Given the description of an element on the screen output the (x, y) to click on. 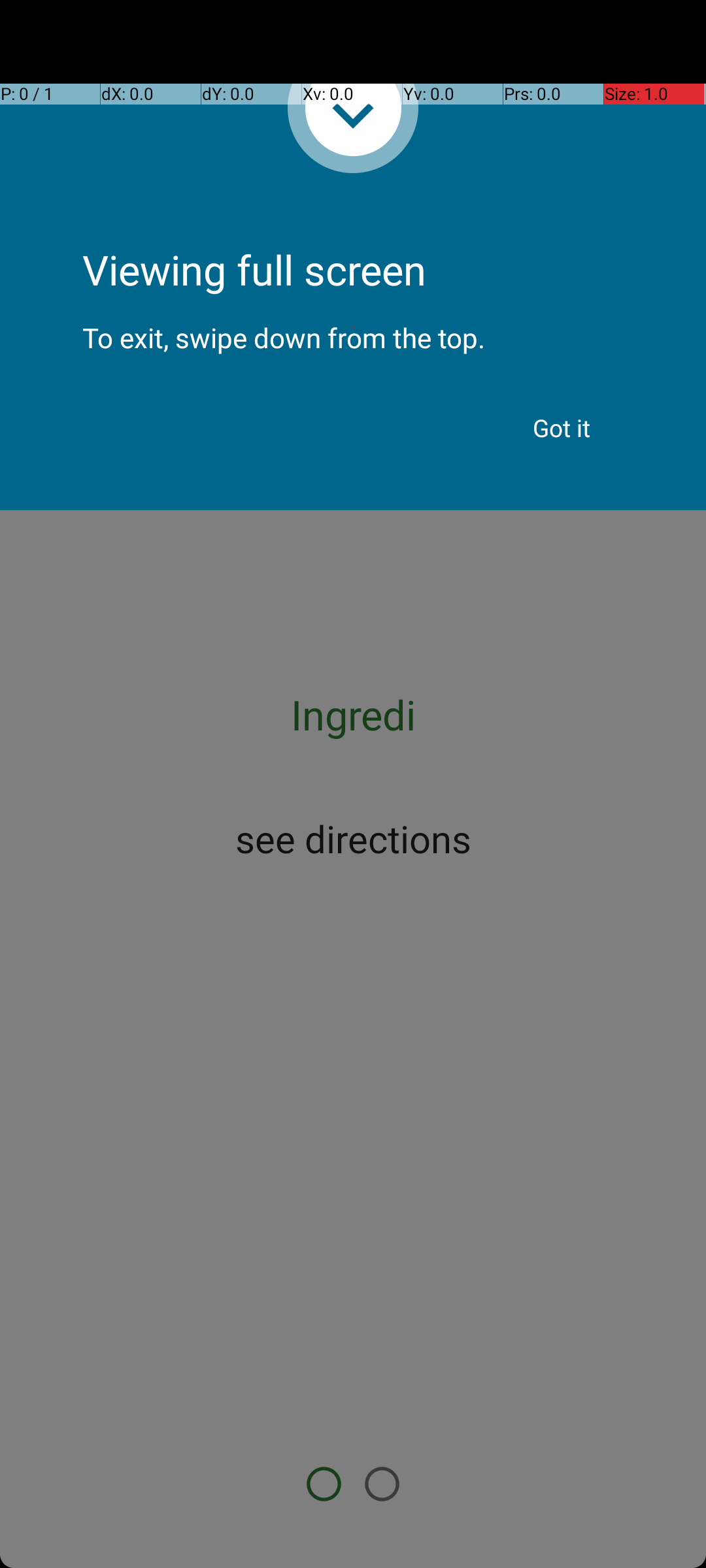
Viewing full screen Element type: android.widget.TextView (353, 235)
To exit, swipe down from the top. Element type: android.widget.TextView (353, 326)
Got it Element type: android.widget.Button (561, 427)
